Given the description of an element on the screen output the (x, y) to click on. 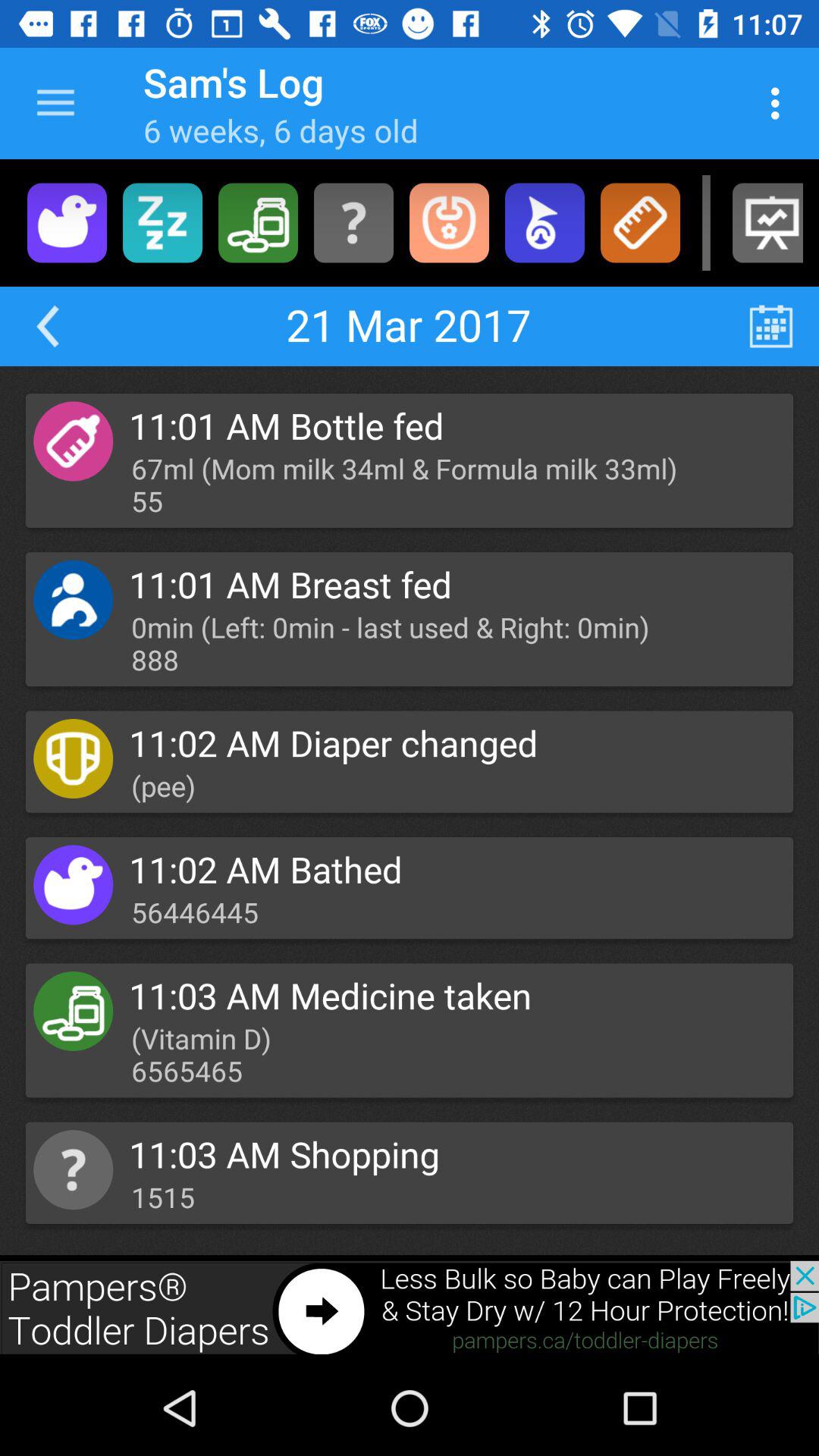
open calendar (771, 326)
